Given the description of an element on the screen output the (x, y) to click on. 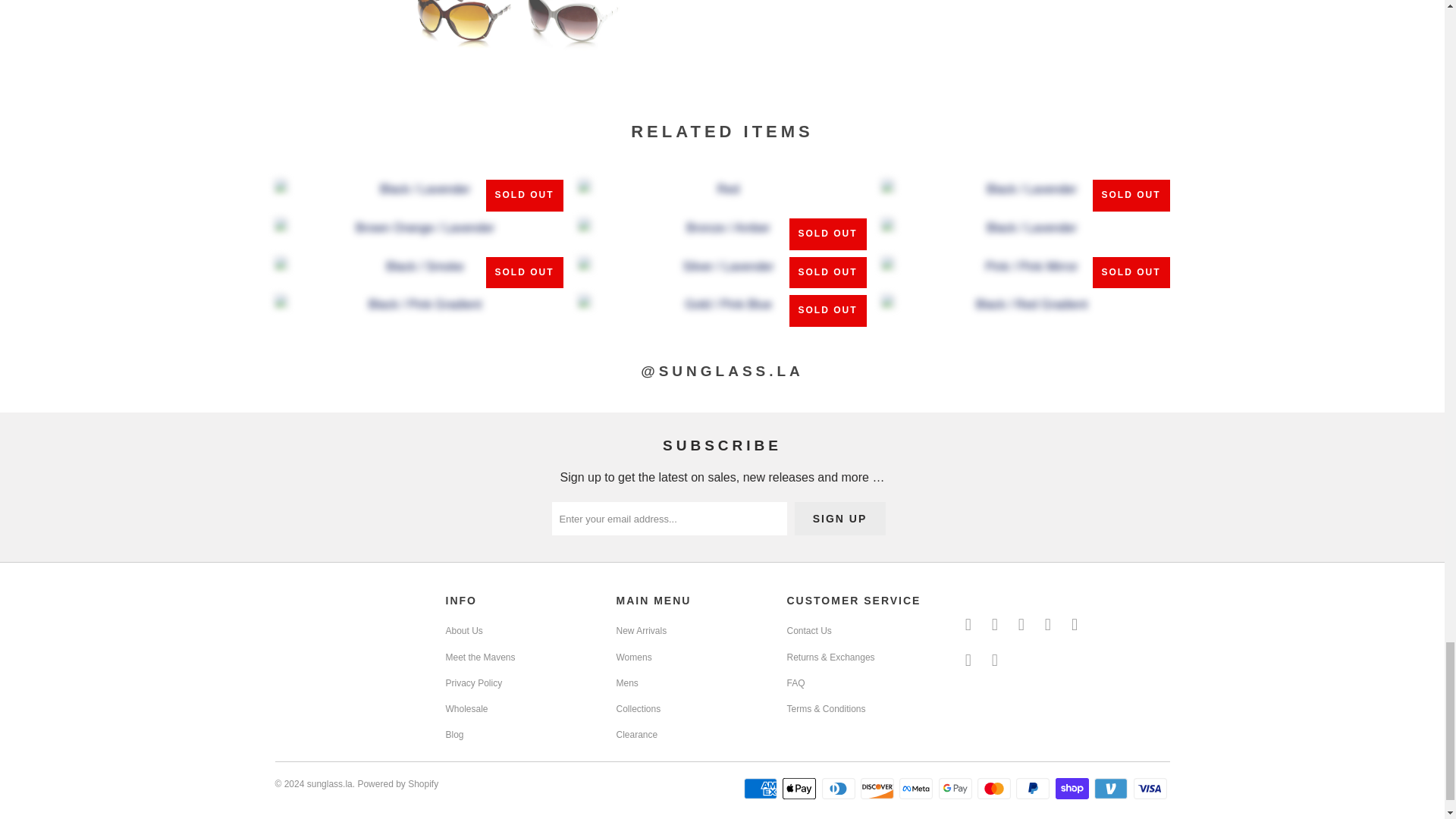
Meta Pay (917, 788)
Venmo (1112, 788)
Diners Club (840, 788)
Discover (878, 788)
sunglass.la on Twitter (967, 624)
Mastercard (994, 788)
Sign Up (839, 518)
Google Pay (957, 788)
PayPal (1034, 788)
Visa (1150, 788)
